Given the description of an element on the screen output the (x, y) to click on. 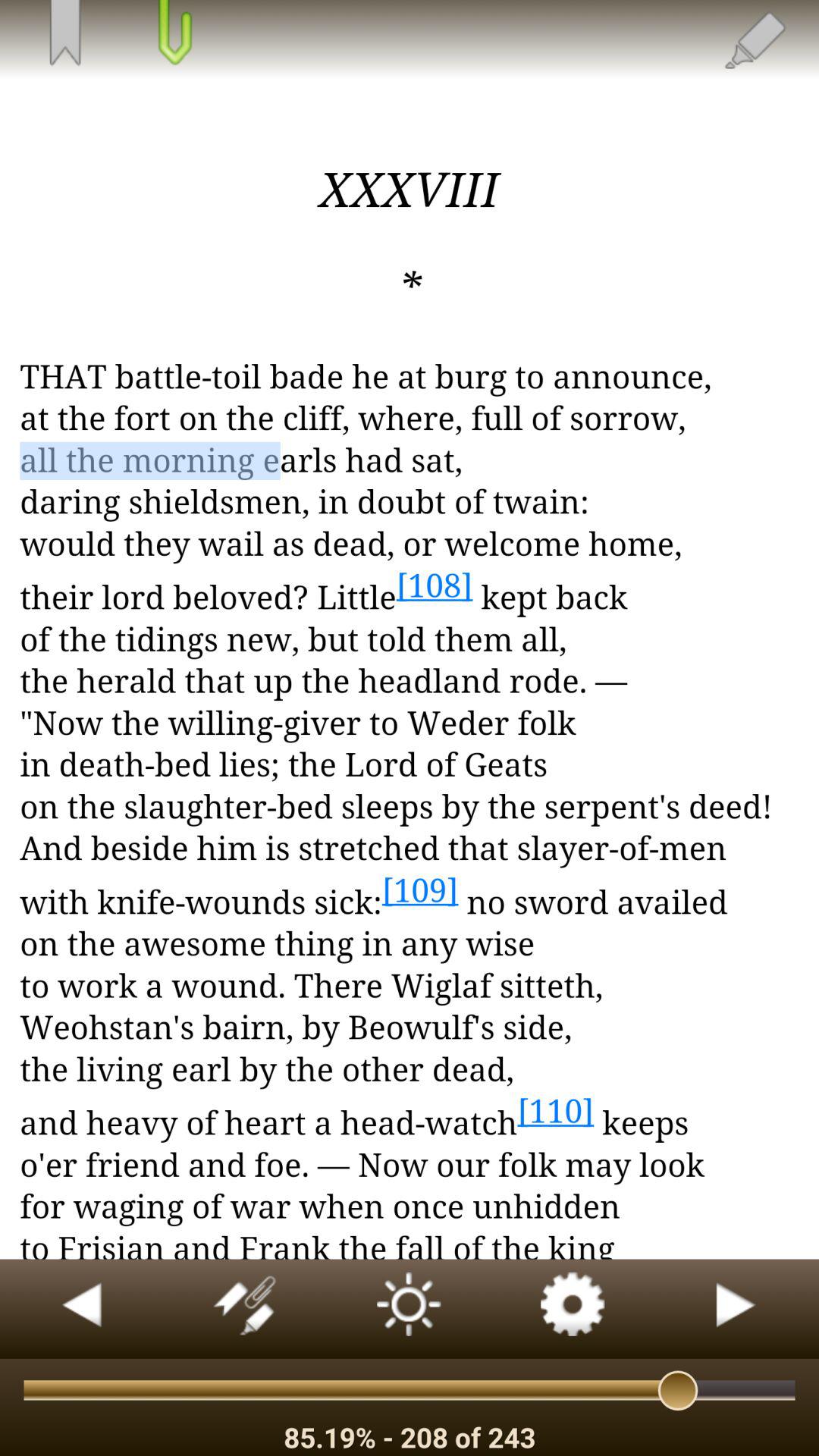
check app settings (573, 1308)
